Given the description of an element on the screen output the (x, y) to click on. 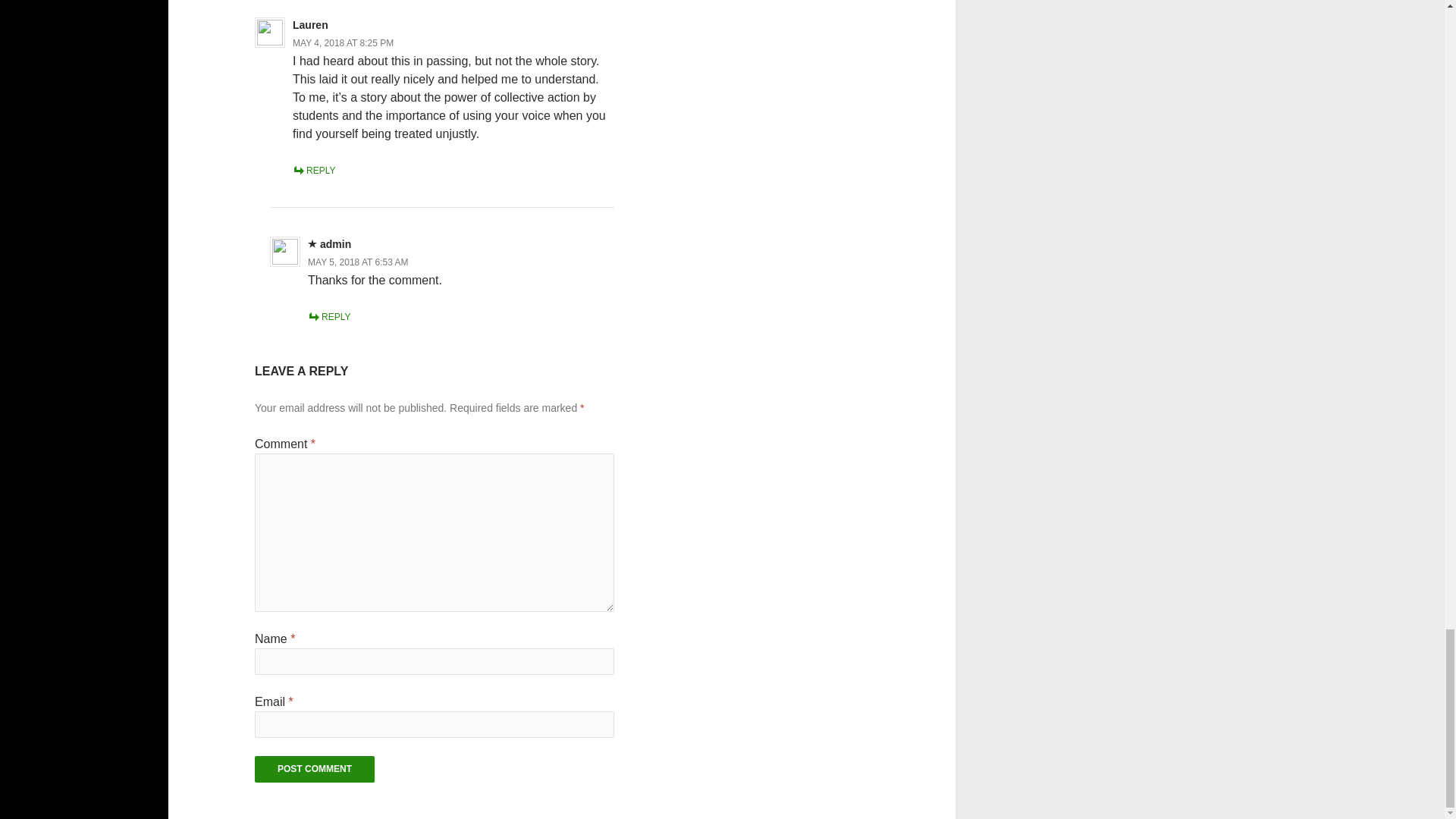
Post Comment (314, 768)
Post Comment (314, 768)
MAY 4, 2018 AT 8:25 PM (342, 42)
MAY 5, 2018 AT 6:53 AM (358, 262)
REPLY (313, 170)
REPLY (328, 317)
